Given the description of an element on the screen output the (x, y) to click on. 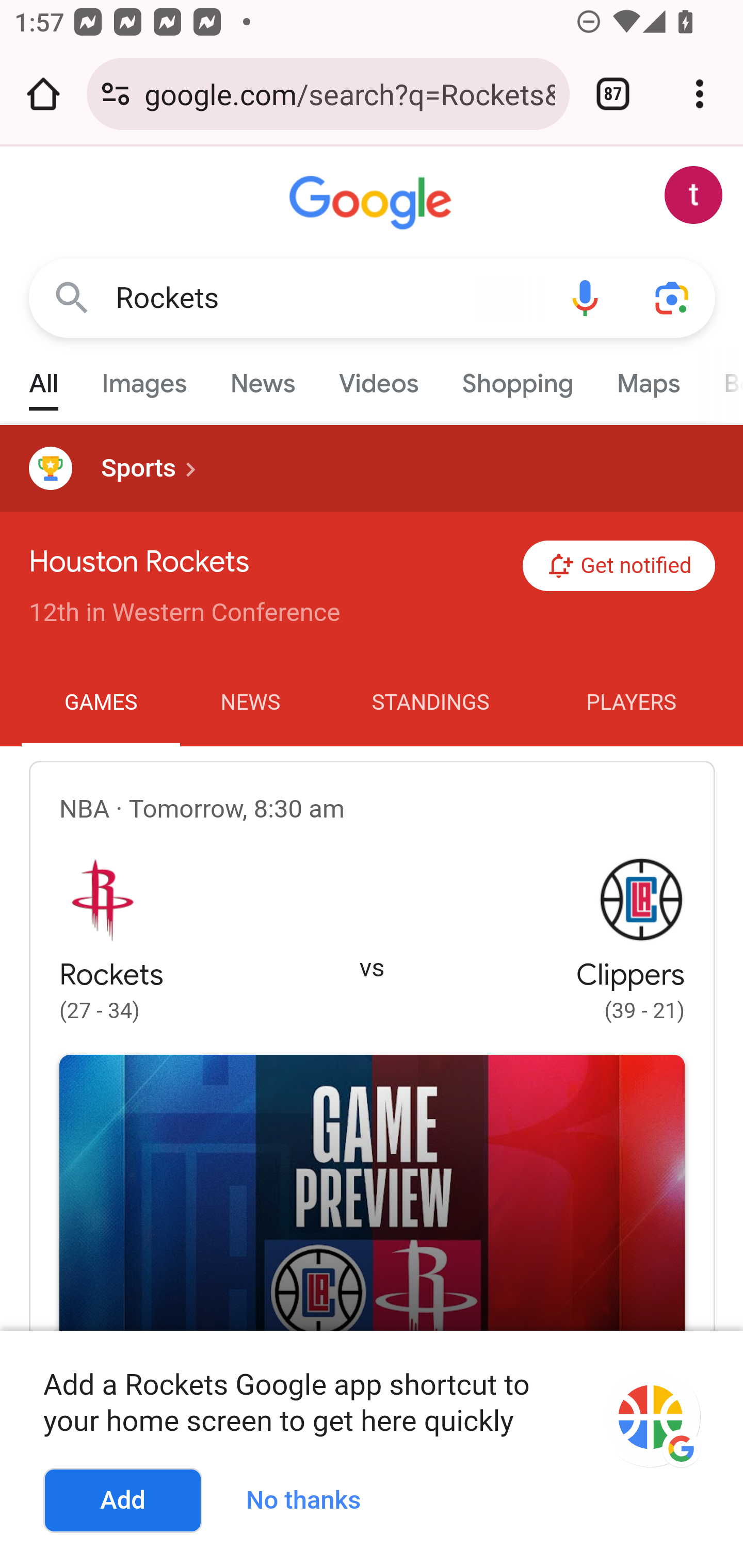
Open the home page (43, 93)
Connection is secure (115, 93)
Switch or close tabs (612, 93)
Customize and control Google Chrome (699, 93)
Google (372, 203)
Google Search (71, 296)
Search using your camera or photos (672, 296)
Rockets (328, 297)
Images (144, 378)
News (262, 378)
Videos (378, 378)
Shopping (516, 378)
Maps (647, 378)
Sports (371, 467)
Get notifications about Houston Rockets (618, 565)
GAMES (101, 702)
NEWS (249, 702)
STANDINGS (430, 702)
PLAYERS (631, 702)
Add (123, 1501)
No thanks (311, 1497)
